Given the description of an element on the screen output the (x, y) to click on. 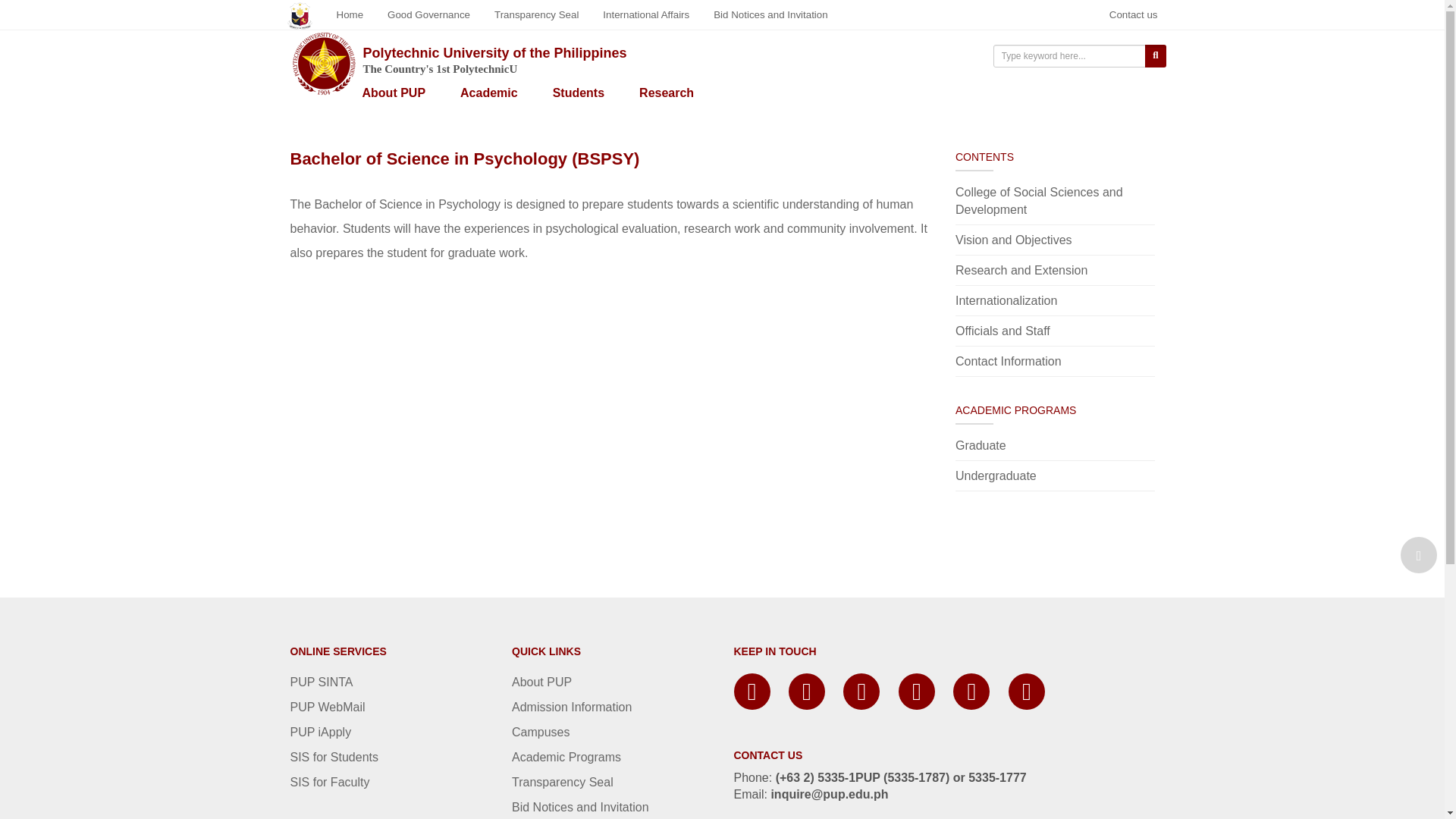
About PUP (394, 90)
Academic (488, 90)
Good Governance (428, 14)
Home (349, 14)
Bid Notices and Invitation (770, 14)
International Affairs (646, 14)
Transparency Seal (536, 14)
Contact us (1133, 14)
